Given the description of an element on the screen output the (x, y) to click on. 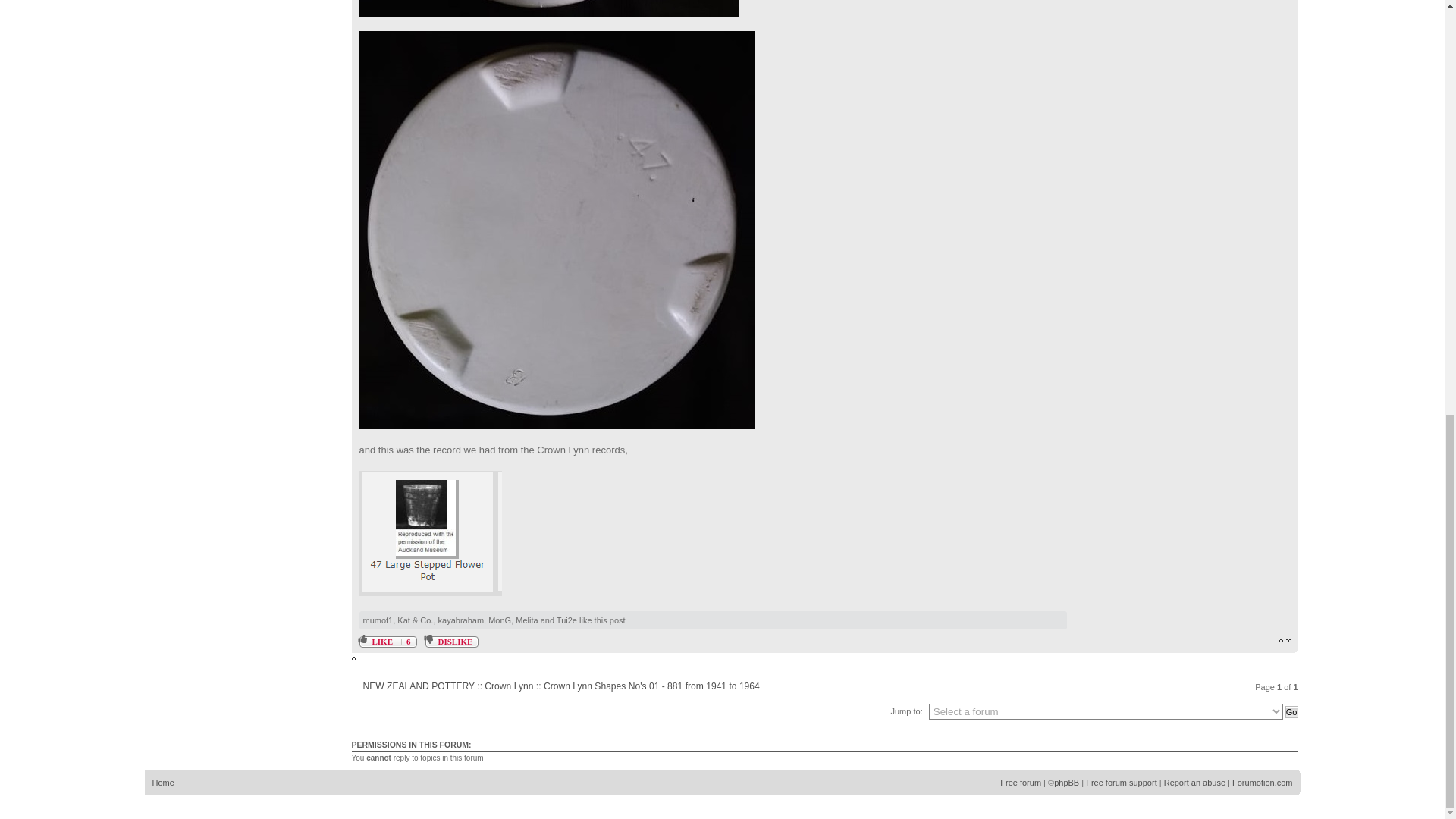
Crown Lynn (508, 685)
LIKE6 (387, 641)
Crown Lynn Shapes No's 01 - 881 from 1941 to 1964 (651, 685)
DISLIKE (452, 641)
Go (1291, 711)
NEW ZEALAND POTTERY (418, 685)
